Given the description of an element on the screen output the (x, y) to click on. 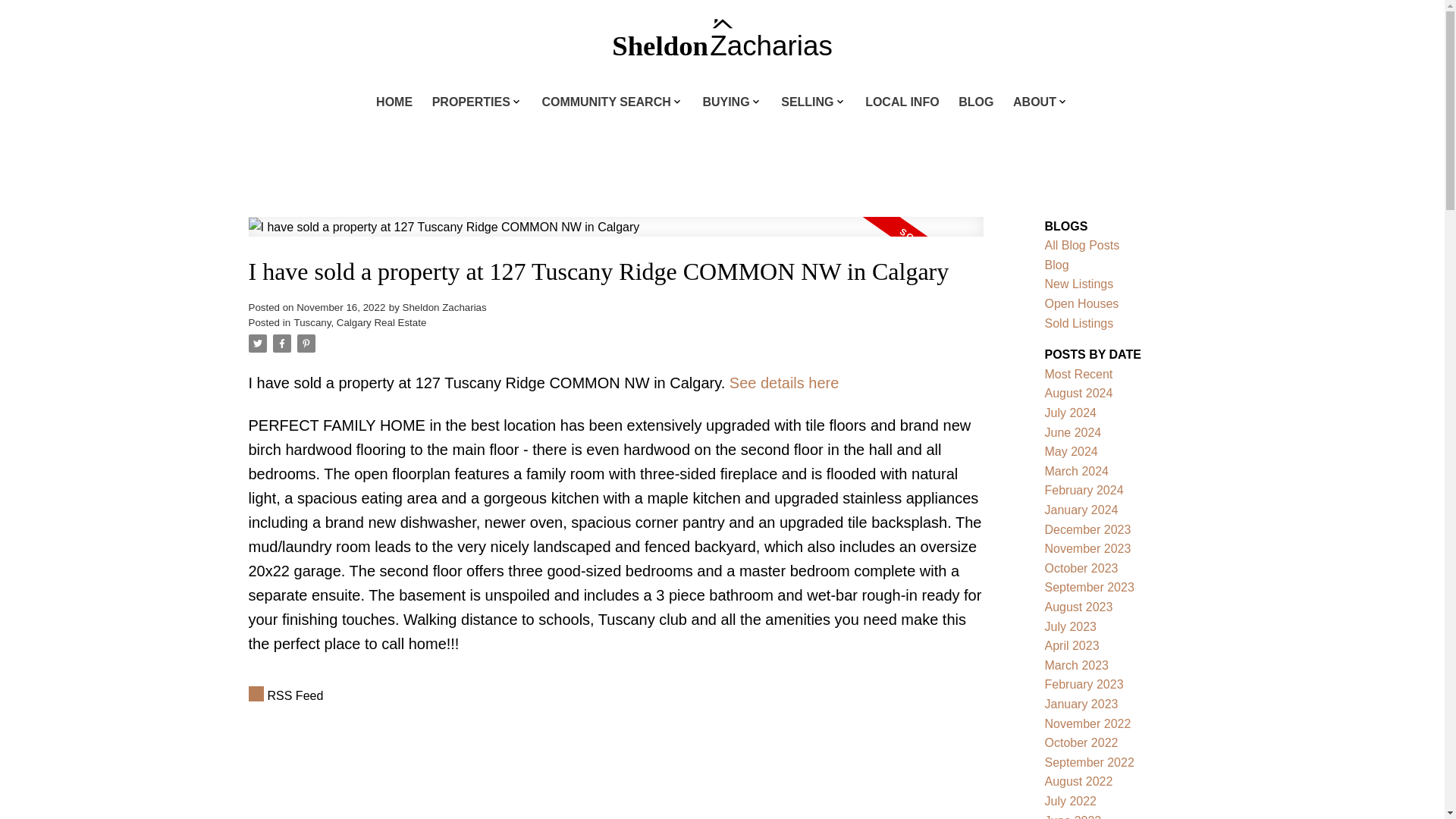
BLOG (975, 103)
LOCAL INFO (901, 103)
HOME (393, 103)
